Given the description of an element on the screen output the (x, y) to click on. 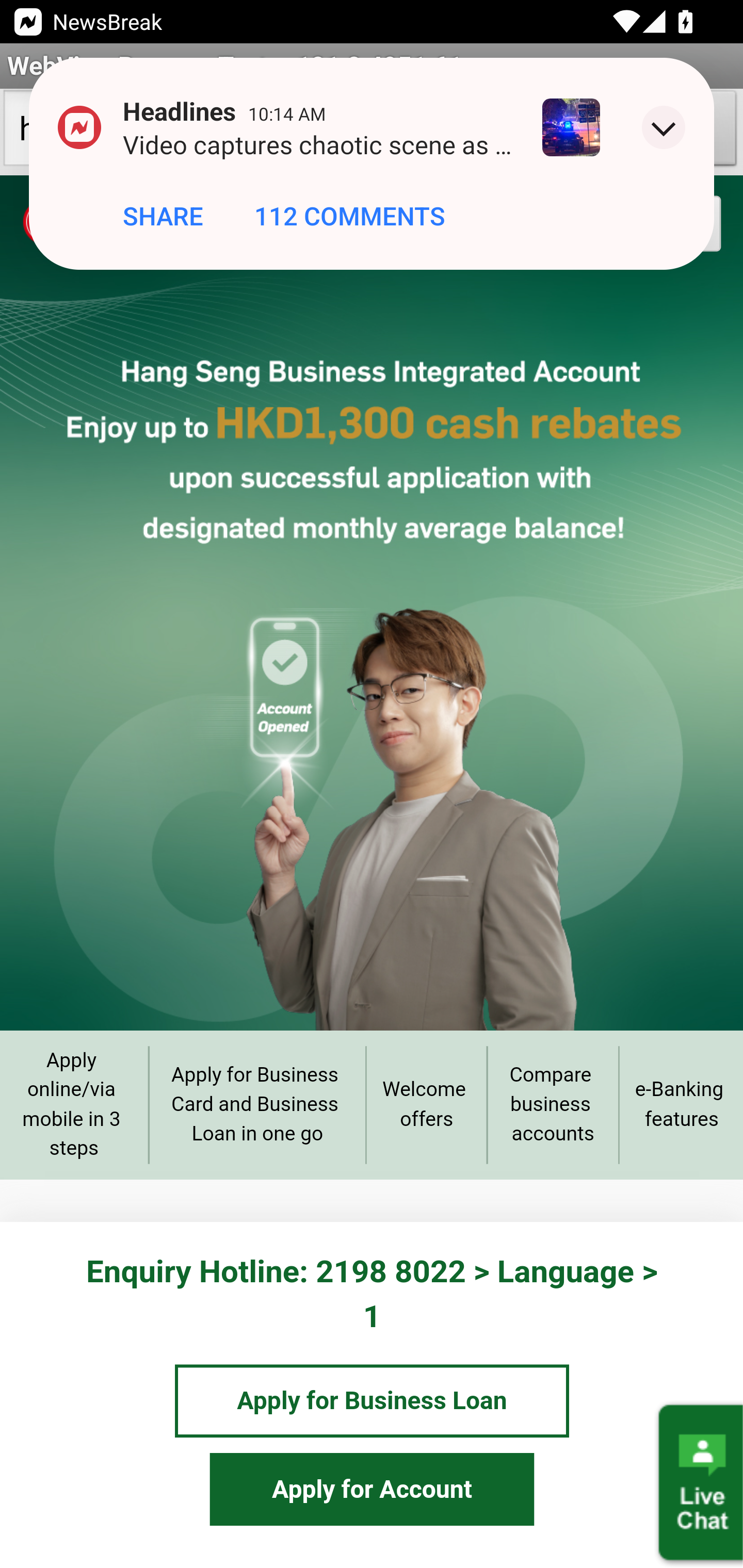
Load URL (585, 132)
About WebView (690, 132)
Apply online/via mobile in 3 steps (74, 1103)
Compare business accounts (552, 1104)
Welcome offers (425, 1104)
e‑Banking features (680, 1104)
Apply for Business Loan (371, 1400)
Live chat (698, 1483)
Apply for Account (371, 1488)
